Given the description of an element on the screen output the (x, y) to click on. 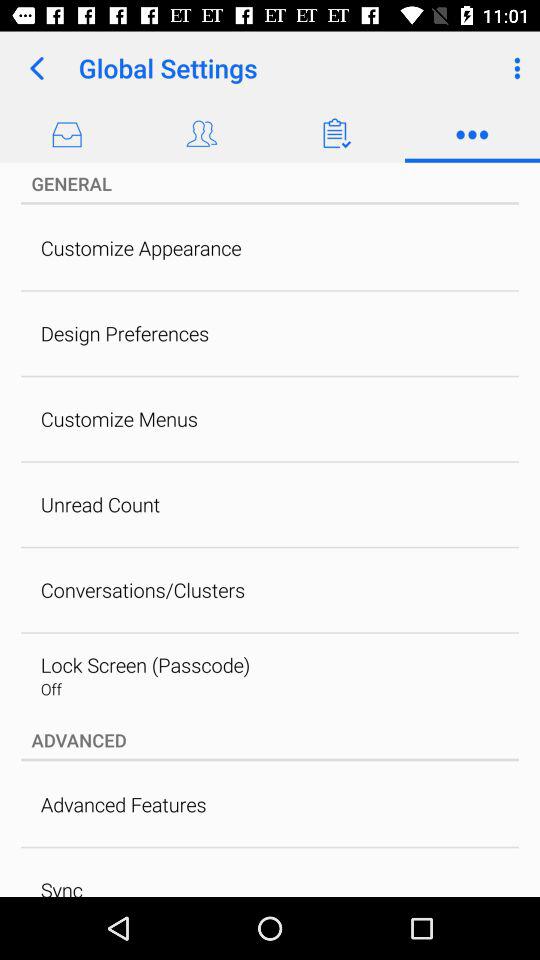
choose app to the left of the global settings item (36, 68)
